Given the description of an element on the screen output the (x, y) to click on. 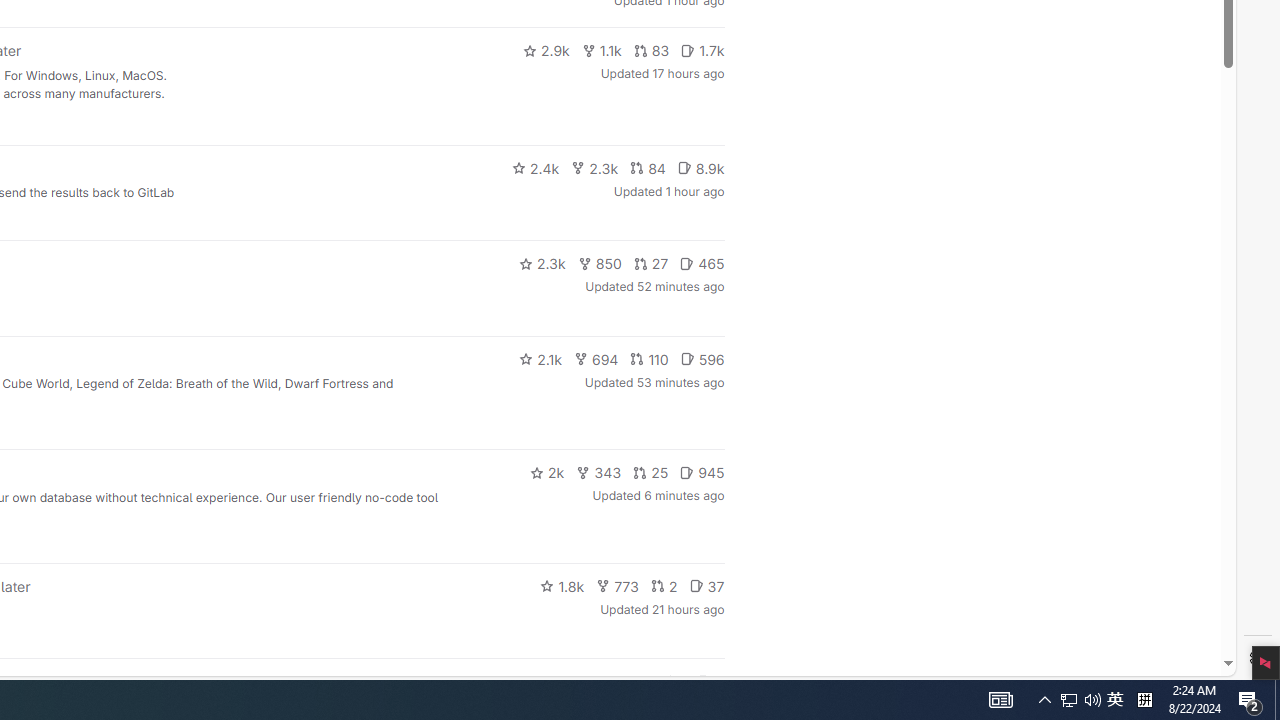
2.3k (541, 263)
850 (599, 263)
694 (596, 358)
2.4k (535, 167)
343 (599, 472)
25 (651, 472)
6 (710, 681)
83 (651, 50)
2 (664, 585)
2.1k (539, 358)
Class: s14 gl-mr-2 (704, 681)
465 (701, 263)
2.9k (545, 50)
84 (647, 167)
